Given the description of an element on the screen output the (x, y) to click on. 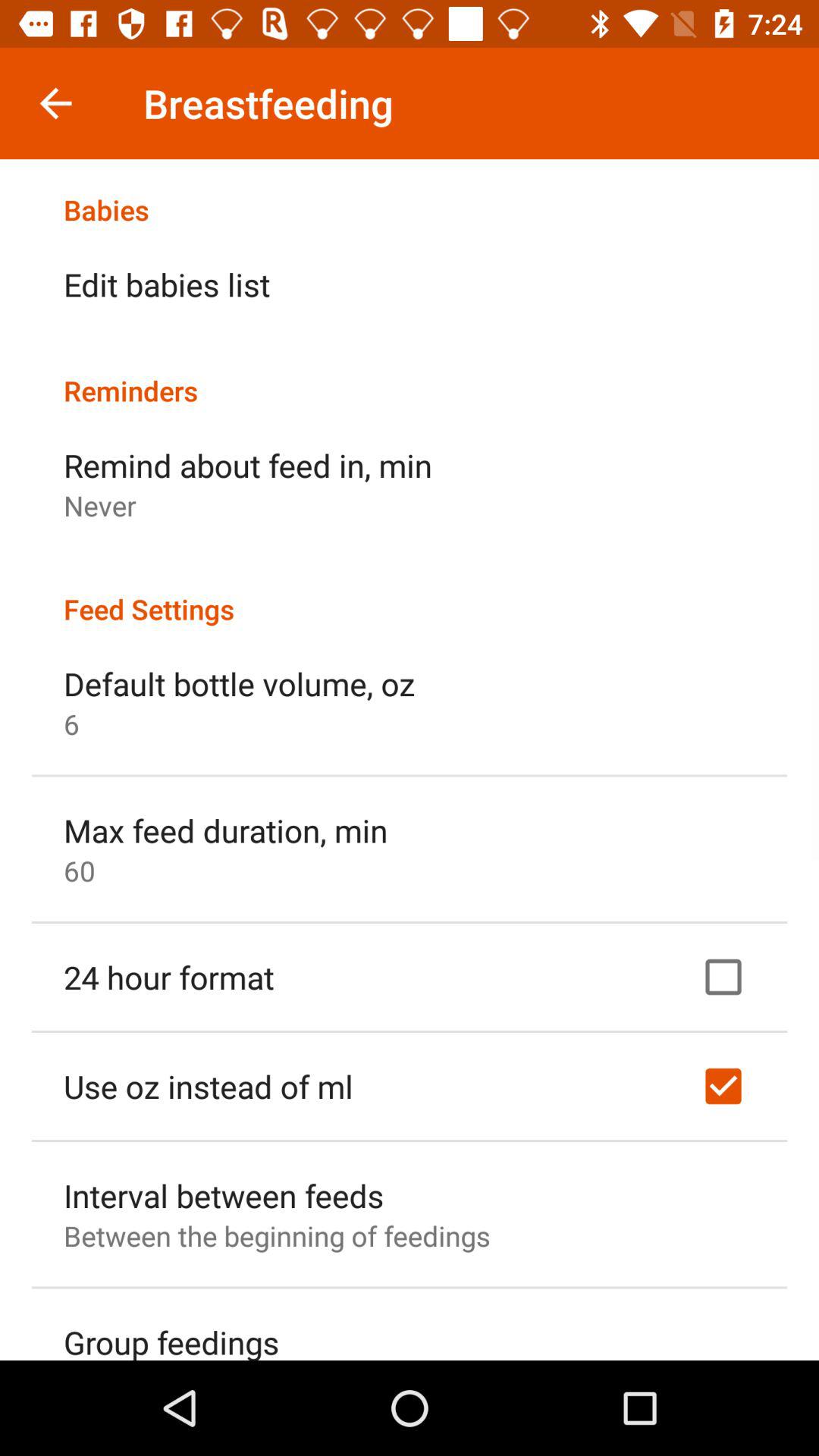
turn on icon at the center (409, 592)
